Given the description of an element on the screen output the (x, y) to click on. 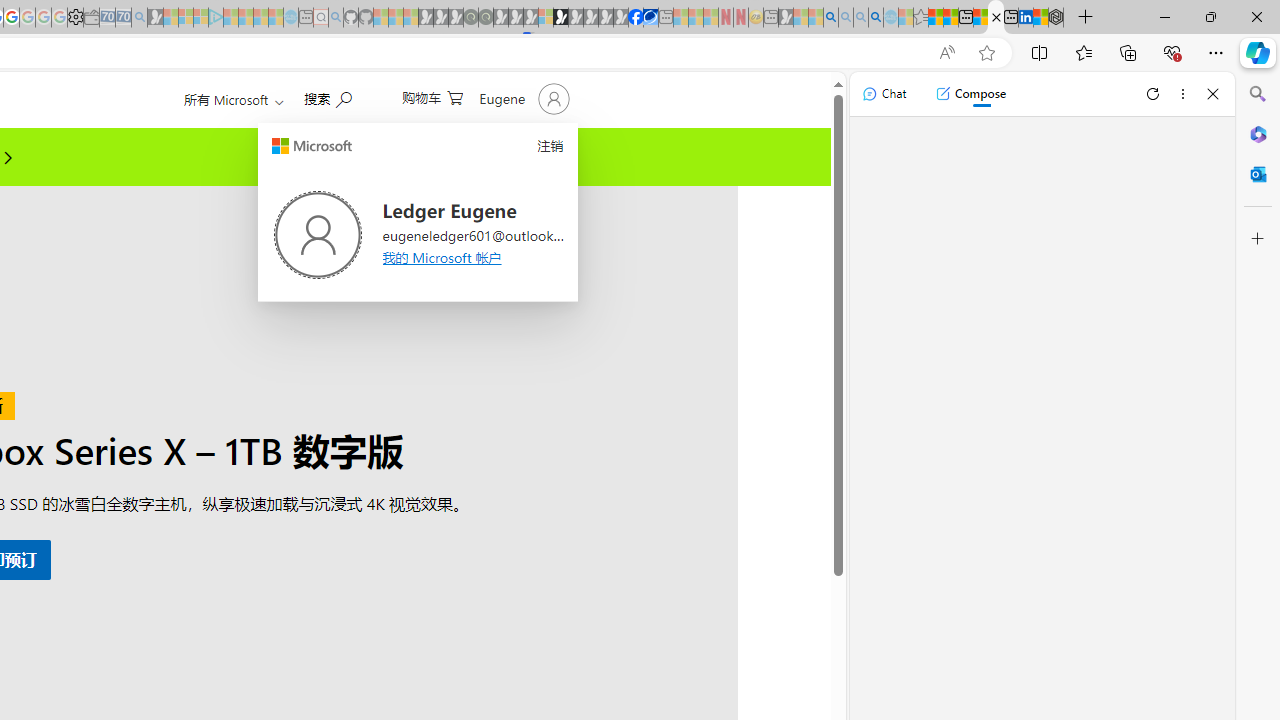
Sign in to your account - Sleeping (545, 17)
Close Customize pane (1258, 239)
Settings and more (Alt+F) (1215, 52)
Close Outlook pane (1258, 174)
Microsoft Start - Sleeping (260, 17)
Aberdeen, Hong Kong SAR weather forecast | Microsoft Weather (950, 17)
Future Focus Report 2024 - Sleeping (485, 17)
Copilot (Ctrl+Shift+.) (1258, 52)
